Given the description of an element on the screen output the (x, y) to click on. 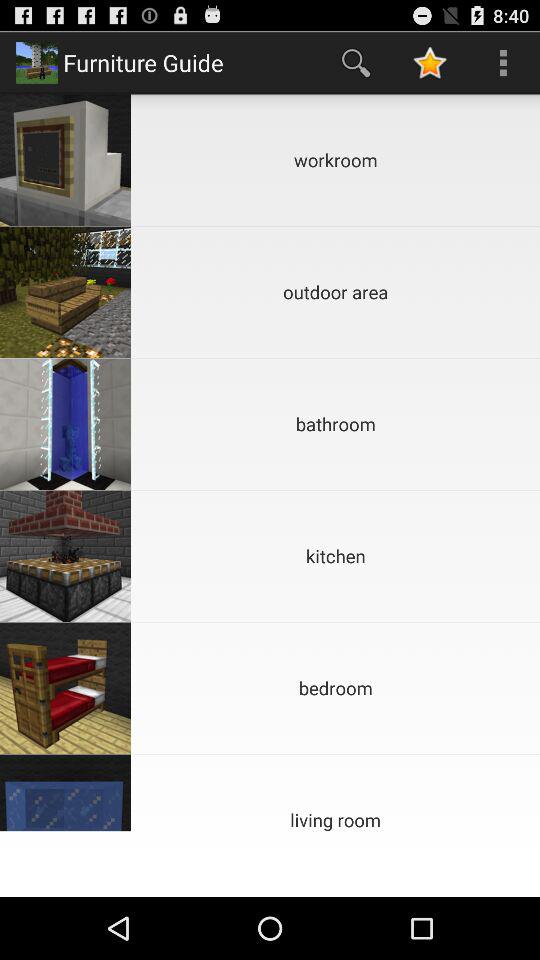
open the workroom item (335, 159)
